Given the description of an element on the screen output the (x, y) to click on. 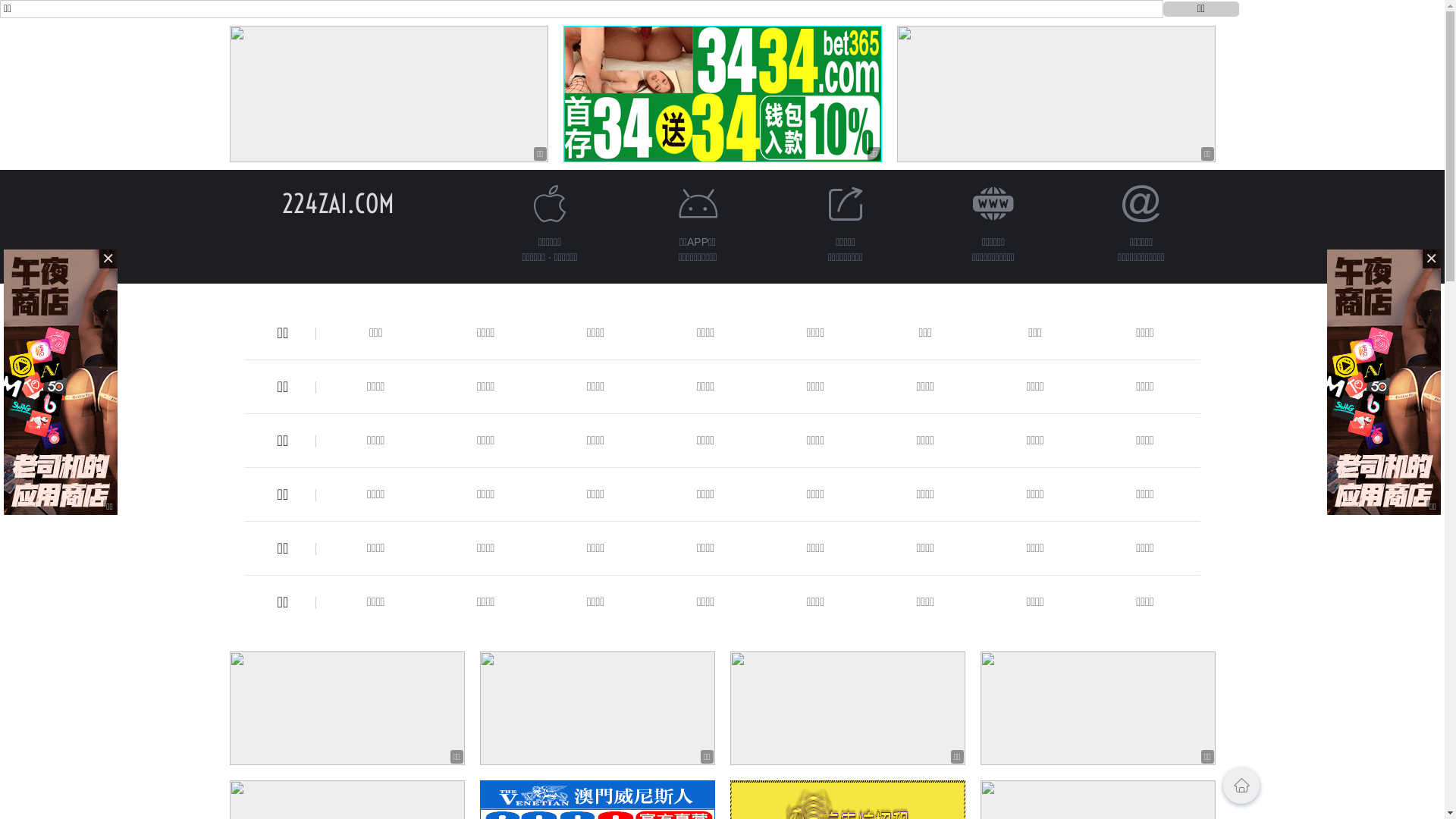
224ZAI.COM Element type: text (338, 203)
